Given the description of an element on the screen output the (x, y) to click on. 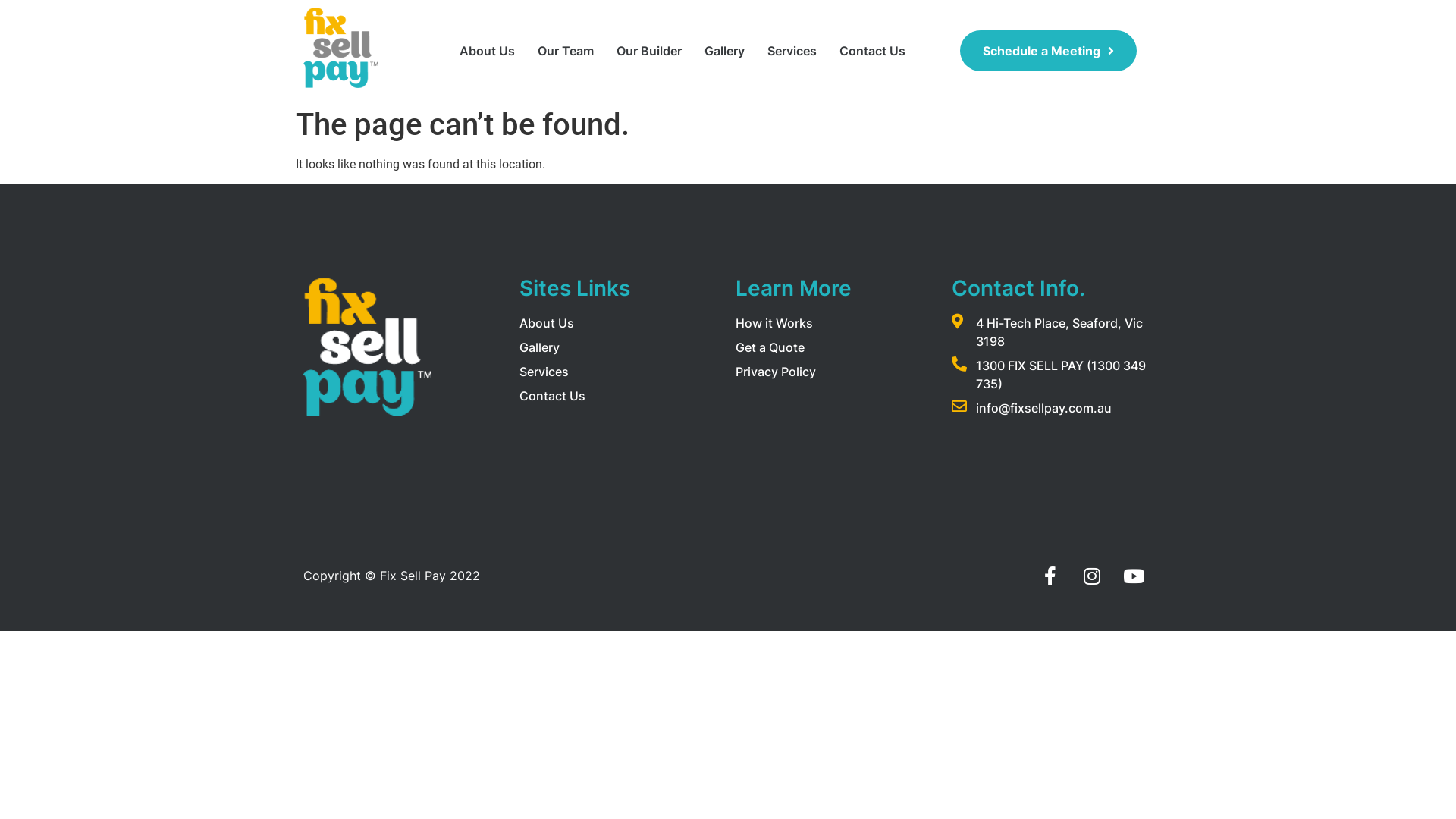
Privacy Policy Element type: text (775, 371)
Schedule a Meeting Element type: text (1048, 50)
Services Element type: text (543, 371)
Get a Quote Element type: text (769, 347)
How it Works Element type: text (773, 322)
About Us Element type: text (546, 322)
Our Team Element type: text (565, 50)
Gallery Element type: text (539, 347)
Services Element type: text (792, 50)
Contact Us Element type: text (872, 50)
Our Builder Element type: text (649, 50)
Contact Us Element type: text (552, 395)
About Us Element type: text (487, 50)
info@fixsellpay.com.au Element type: text (1031, 407)
1300 FIX SELL PAY (1300 349 735) Element type: text (1051, 374)
Gallery Element type: text (724, 50)
